Given the description of an element on the screen output the (x, y) to click on. 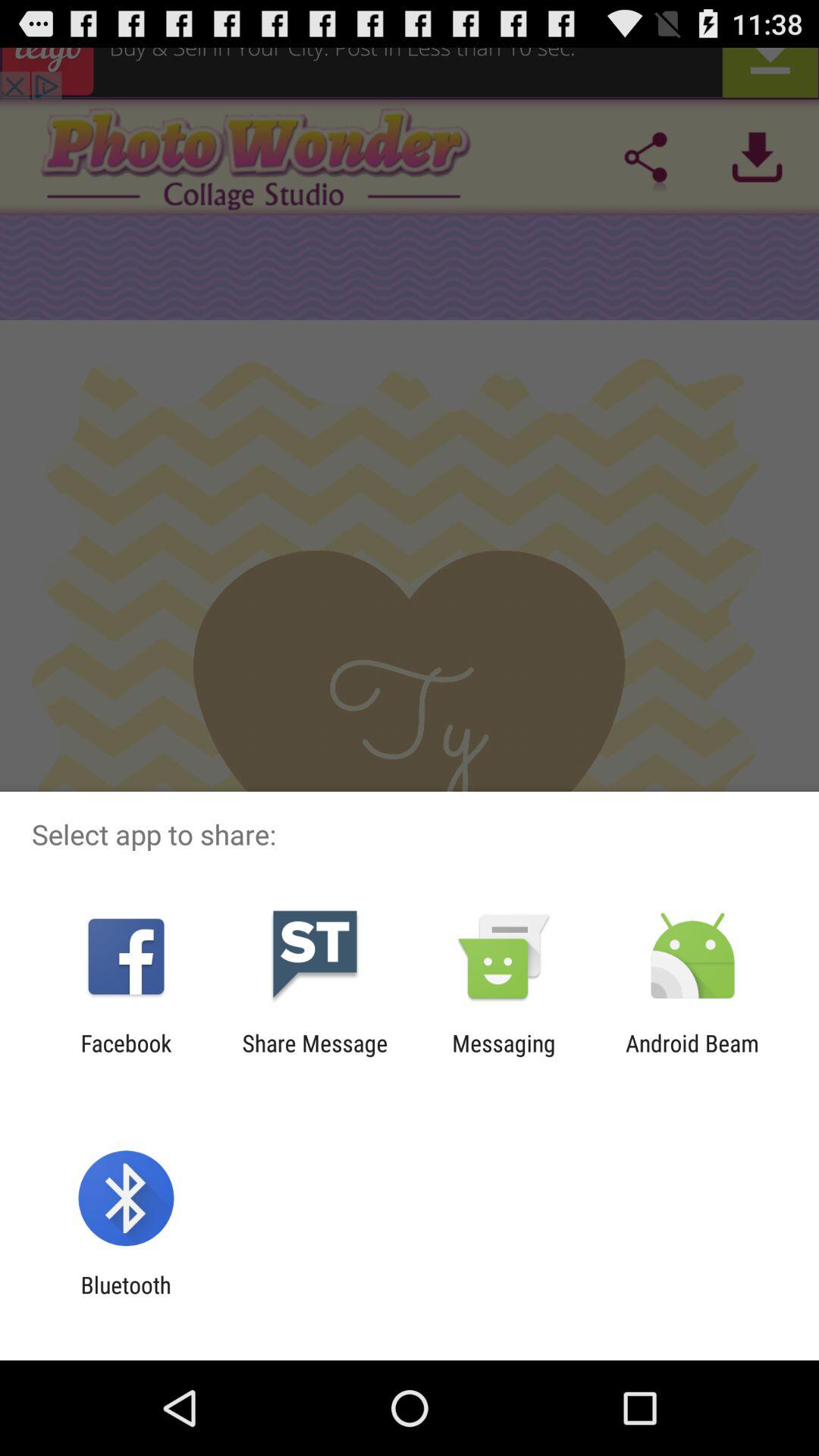
swipe to the bluetooth (125, 1298)
